Given the description of an element on the screen output the (x, y) to click on. 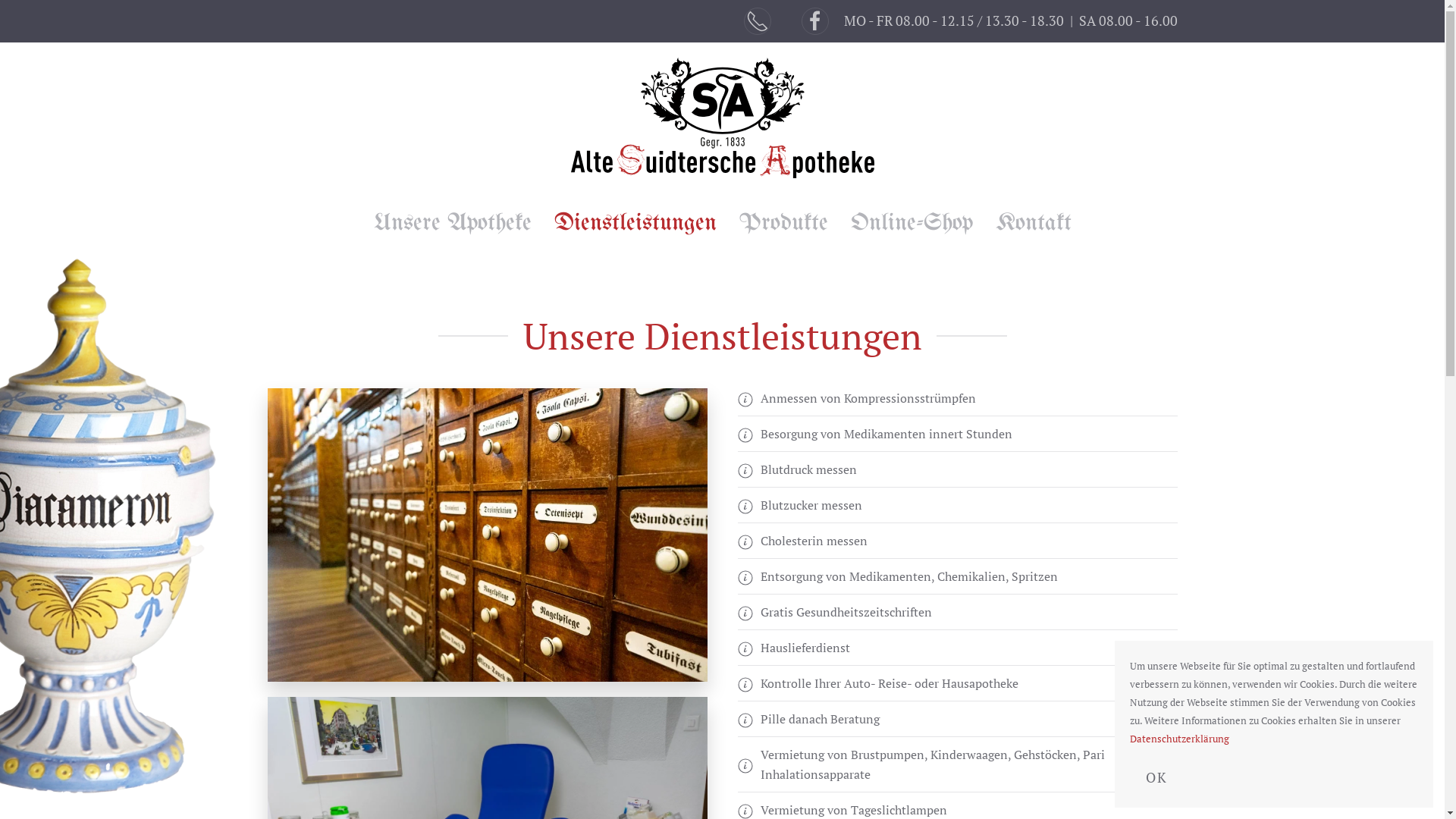
Produkte Element type: text (782, 223)
Kontakt Element type: text (1032, 223)
OK Element type: text (1156, 777)
Unsere Apotheke Element type: text (451, 223)
Online-Shop Element type: text (911, 223)
Dienstleistungen Element type: text (634, 223)
